Given the description of an element on the screen output the (x, y) to click on. 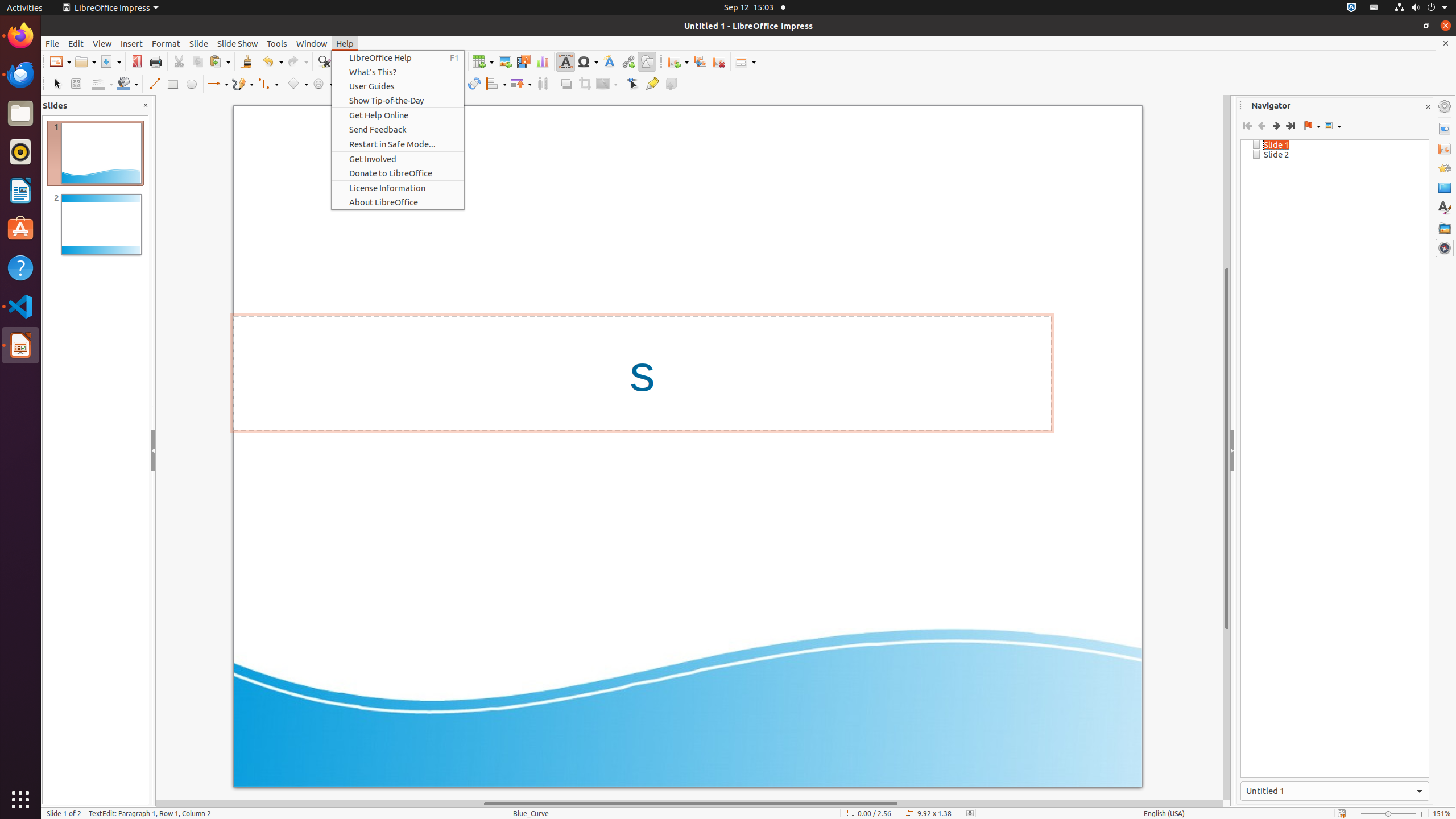
Zoom & Pan Element type: push-button (75, 83)
Previous Slide Element type: push-button (1261, 125)
Tools Element type: menu (276, 43)
Insert Element type: menu (131, 43)
